Given the description of an element on the screen output the (x, y) to click on. 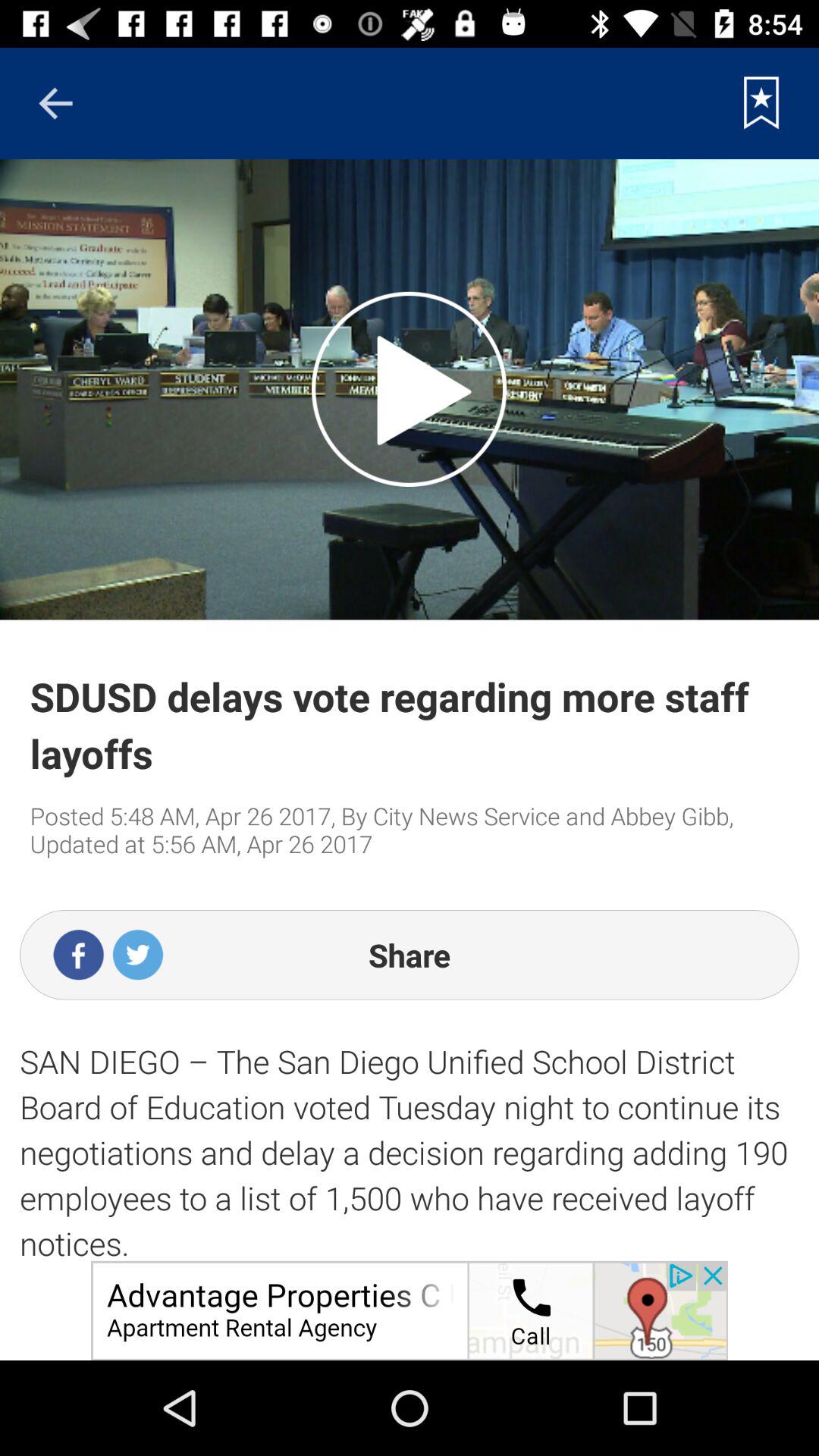
go to stop (408, 388)
